Given the description of an element on the screen output the (x, y) to click on. 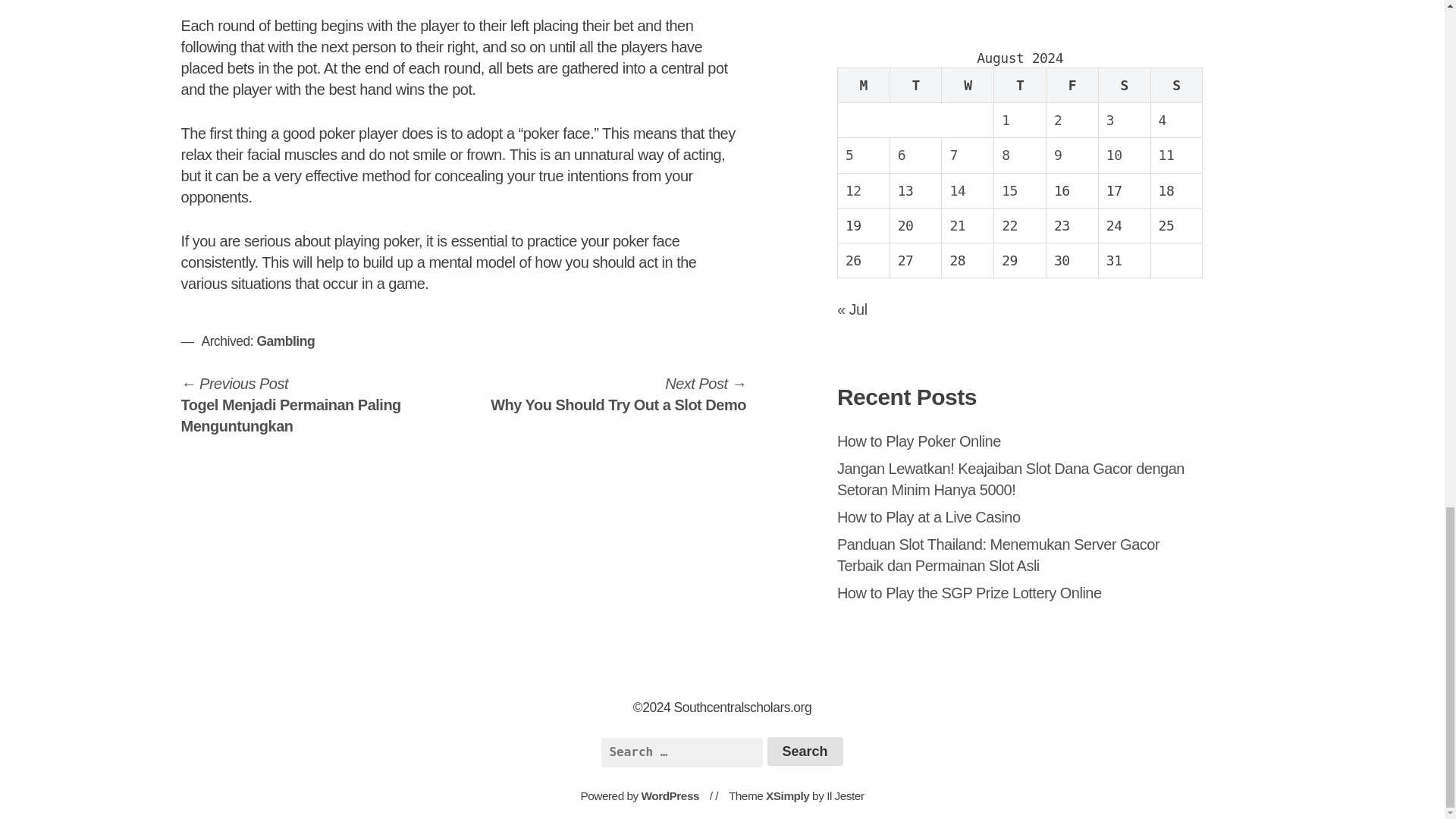
Search (805, 751)
Gambling (285, 340)
Sunday (1176, 84)
Saturday (1123, 84)
Friday (1072, 84)
Search (805, 751)
Tuesday (915, 84)
Wednesday (968, 84)
